Given the description of an element on the screen output the (x, y) to click on. 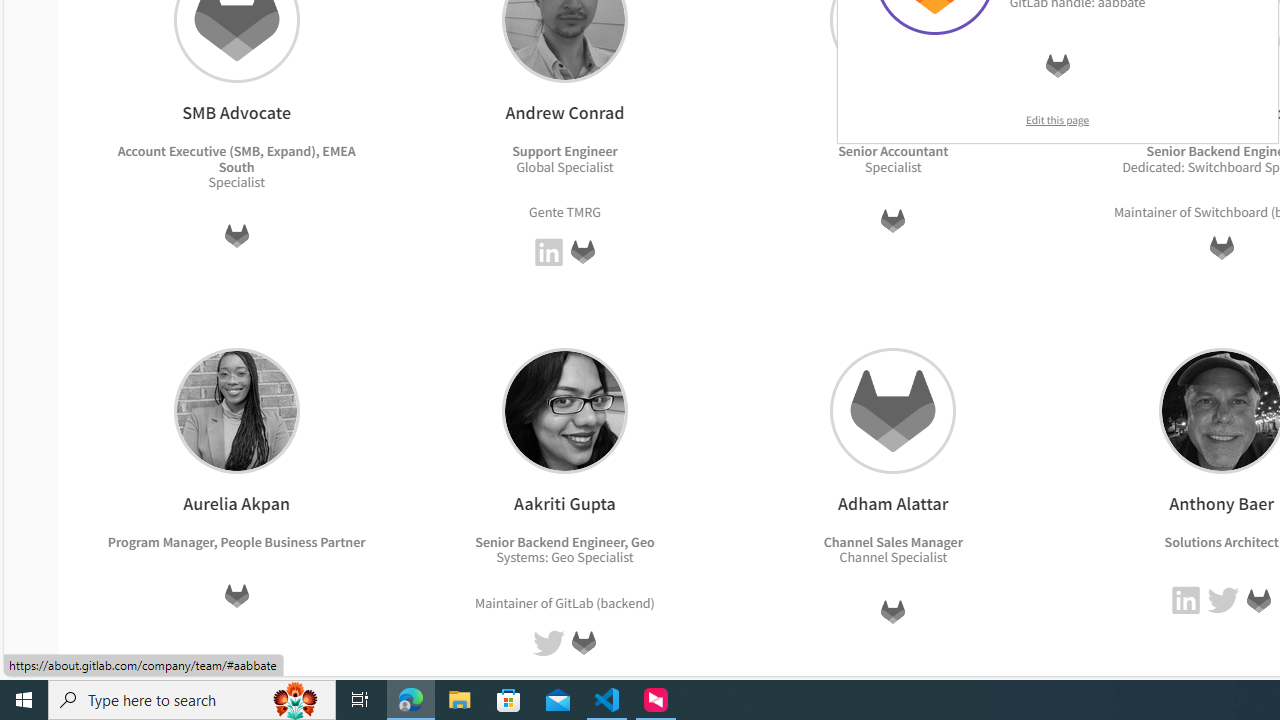
Solutions Architect (1220, 541)
GitLab (1257, 600)
Program Manager, People Business Partner (236, 541)
Aurelia Akpan (236, 409)
Aurelia Akpan (235, 410)
Senior Accountant (893, 151)
Switchboard (1230, 211)
Account Executive (SMB, Expand), EMEA South (235, 158)
Specialist (918, 557)
Gente TMRG (564, 210)
Support Engineer (565, 151)
Maintainer of GitLab (backend) (564, 601)
Maintainer (505, 602)
Channel Sales Manager (892, 541)
